Given the description of an element on the screen output the (x, y) to click on. 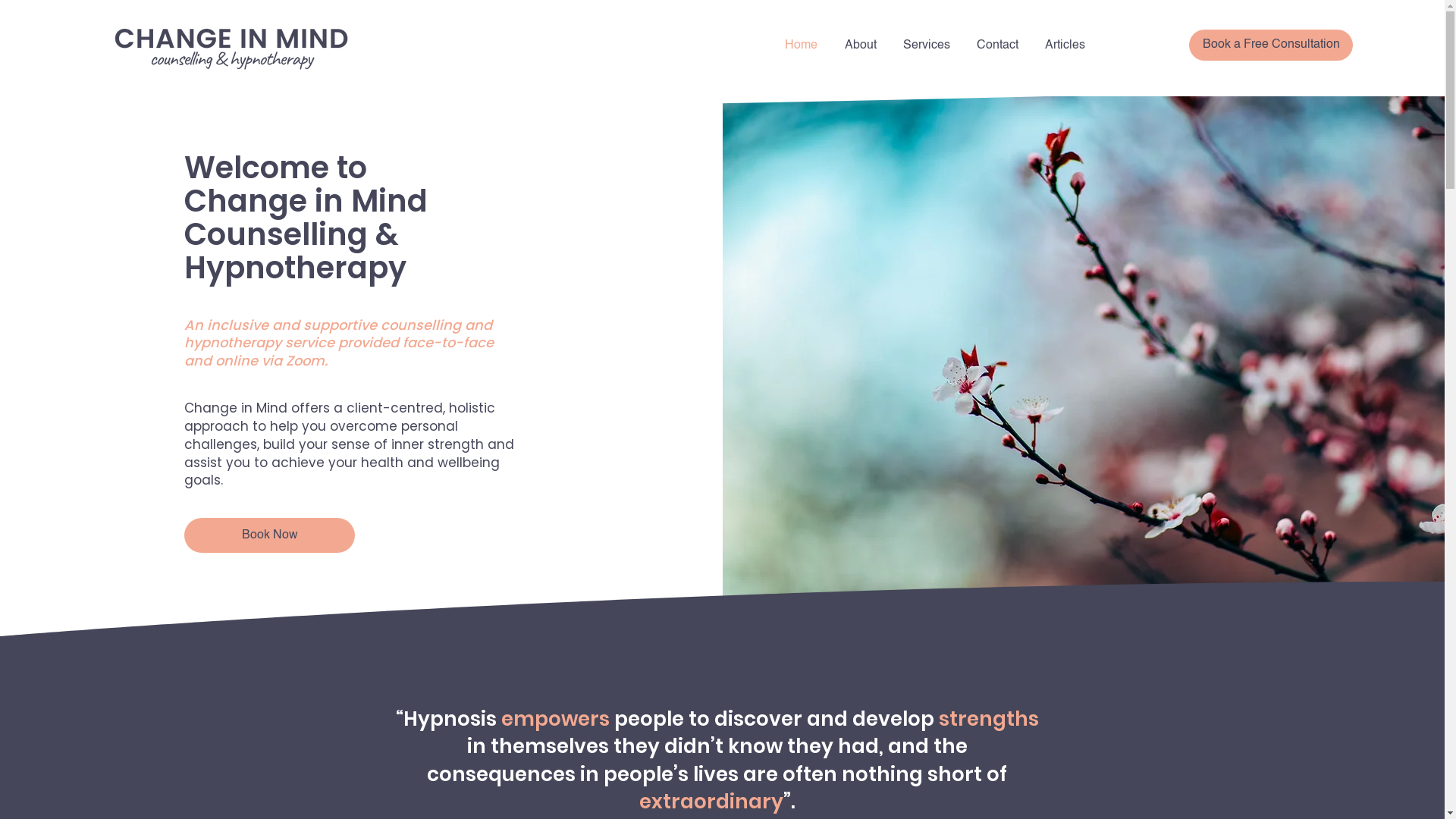
Book a Free Consultation Element type: text (1270, 44)
Book Now Element type: text (269, 534)
Contact Element type: text (997, 45)
Home Element type: text (801, 45)
4.png Element type: hover (231, 45)
Articles Element type: text (1064, 45)
